Given the description of an element on the screen output the (x, y) to click on. 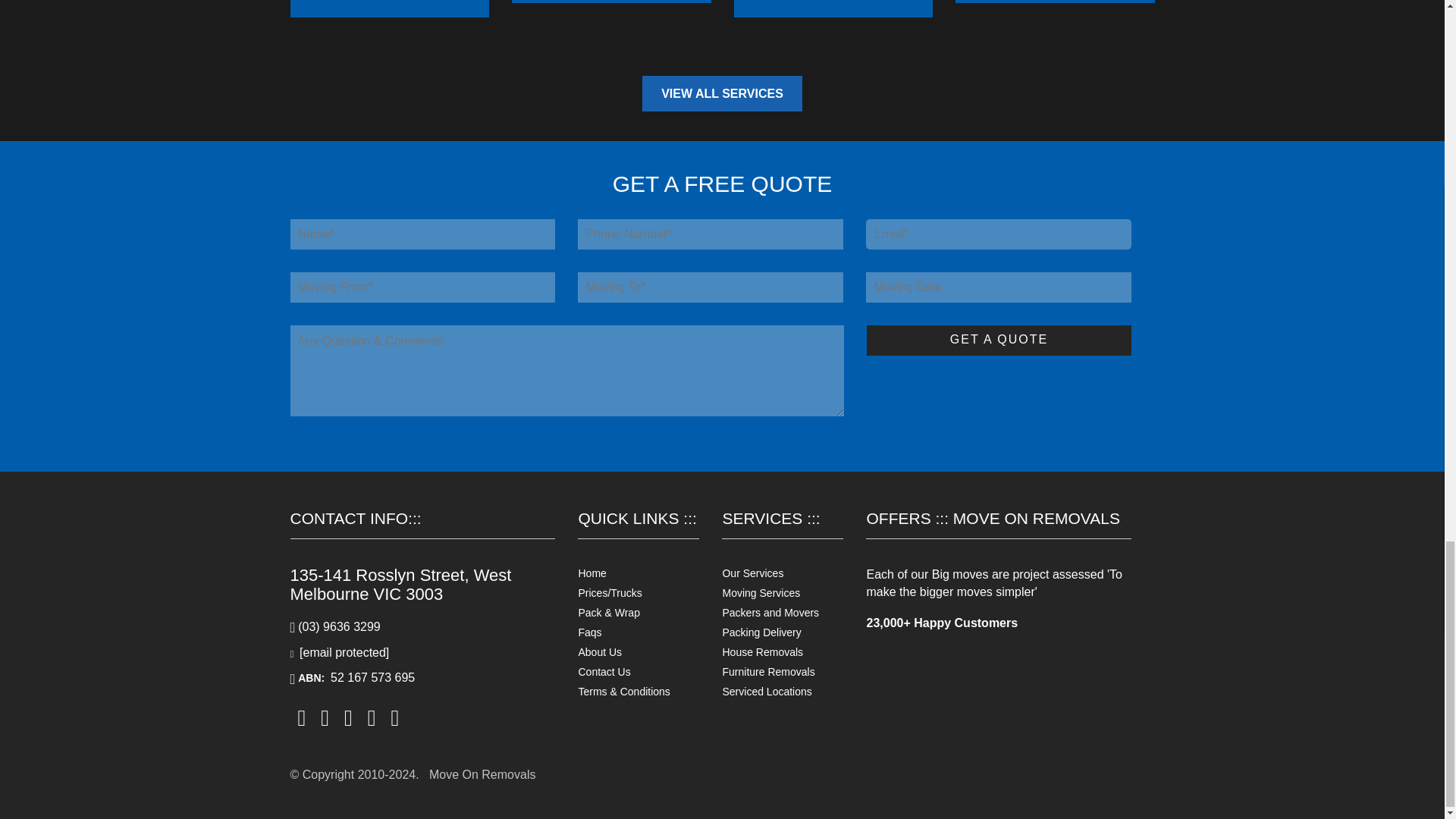
Instagram (324, 716)
LinkedIn (371, 716)
Facebook (301, 716)
Twitter (347, 716)
GET A QUOTE (998, 340)
Google My Business (394, 716)
